Given the description of an element on the screen output the (x, y) to click on. 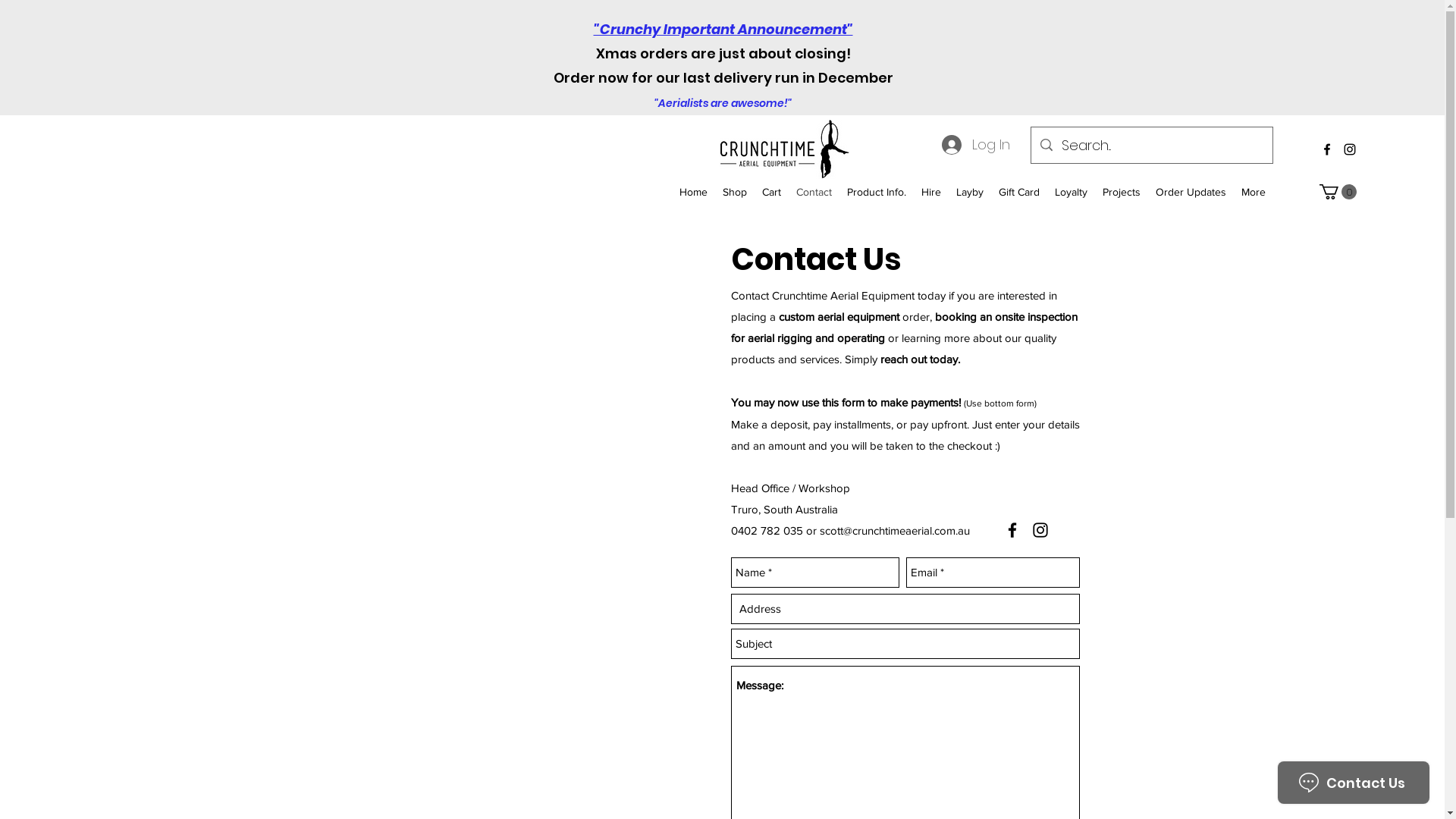
Cart Element type: text (771, 191)
Loyalty Element type: text (1071, 191)
Log In Element type: text (975, 144)
"Crunchy Important Announcement" Element type: text (722, 28)
Projects Element type: text (1121, 191)
scott@crunchtimeaerial.com.au Element type: text (894, 530)
Contact Element type: text (813, 191)
Hire Element type: text (930, 191)
Order Updates Element type: text (1190, 191)
0 Element type: text (1337, 191)
"Aerialists are awesome!" Element type: text (722, 102)
Xmas orders are just about closing! Element type: text (723, 52)
Order now for our last delivery run in December Element type: text (723, 89)
Shop Element type: text (734, 191)
Product Info. Element type: text (876, 191)
Home Element type: text (693, 191)
Layby Element type: text (969, 191)
Gift Card Element type: text (1019, 191)
